Given the description of an element on the screen output the (x, y) to click on. 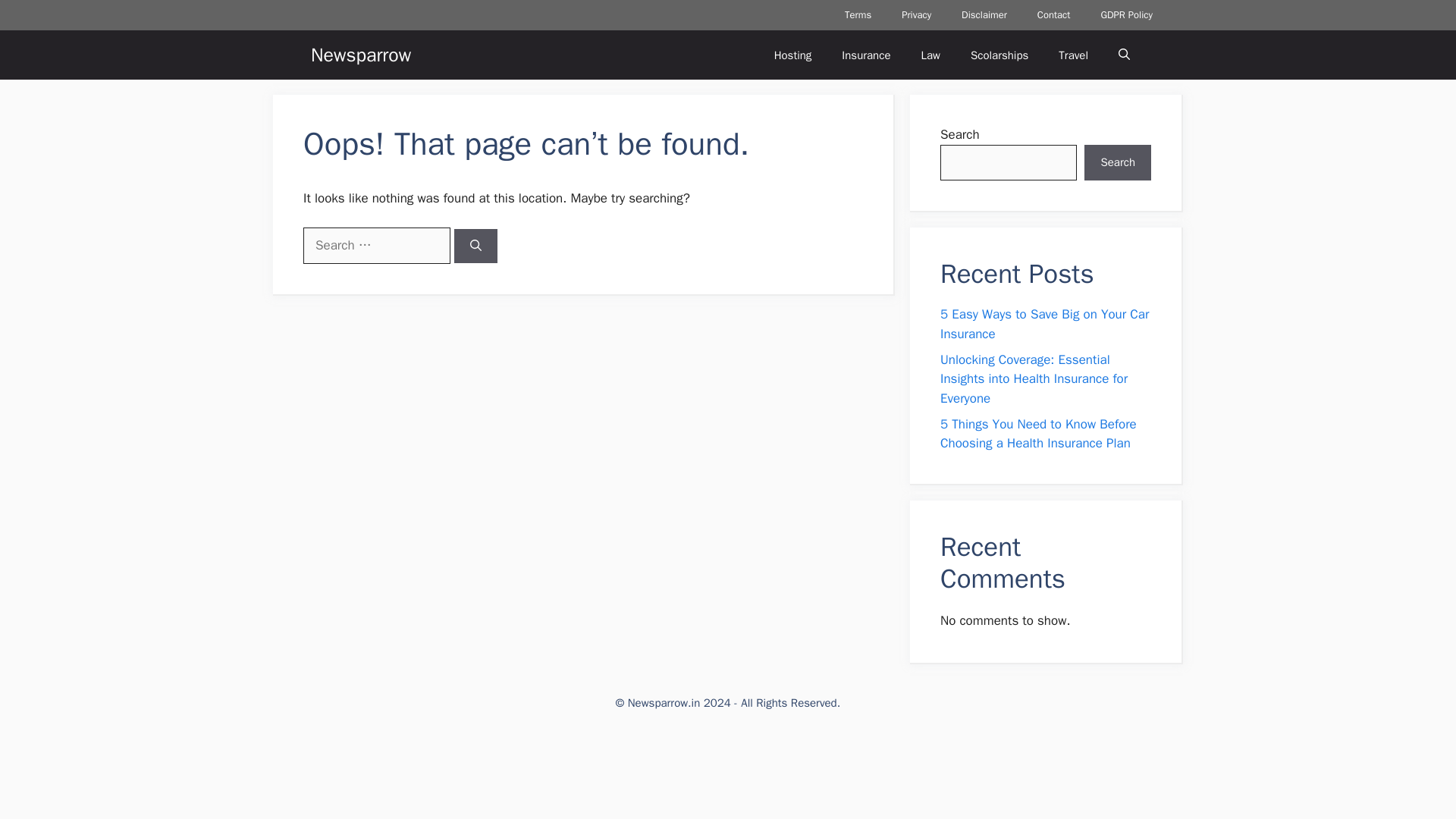
Law (930, 53)
Privacy (916, 15)
Scolarships (999, 53)
Insurance (866, 53)
Newsparrow (360, 54)
Hosting (792, 53)
GDPR Policy (1125, 15)
Search for: (375, 245)
Contact (1054, 15)
